Given the description of an element on the screen output the (x, y) to click on. 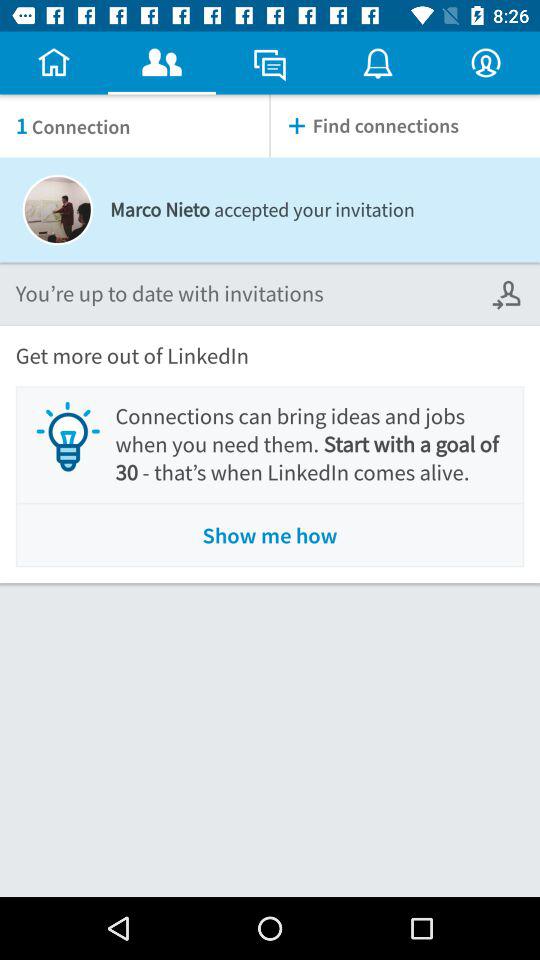
launch the icon next to the 1 connection (405, 125)
